Given the description of an element on the screen output the (x, y) to click on. 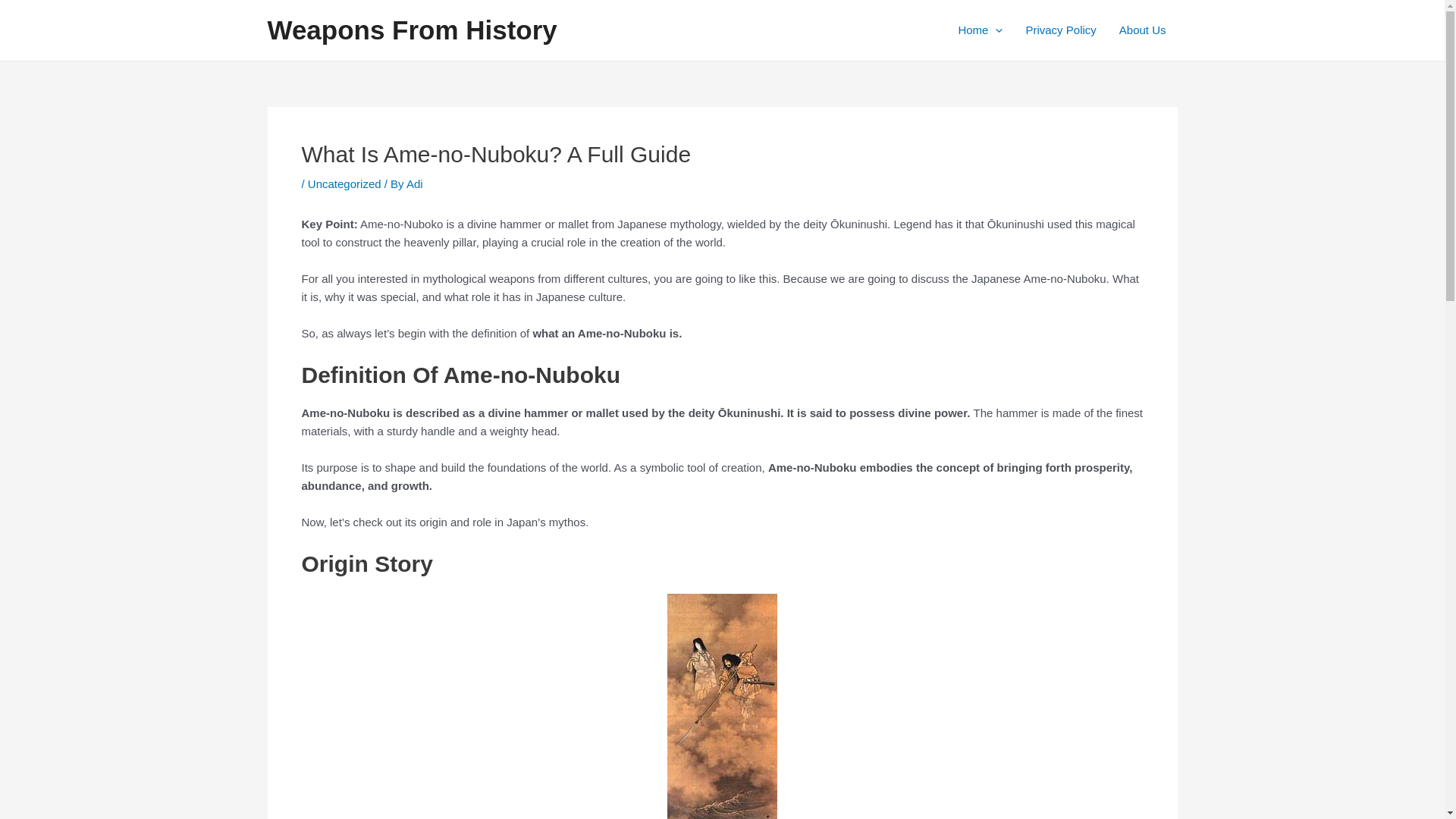
Home (979, 30)
Weapons From History (411, 30)
Adi (414, 183)
View all posts by Adi (414, 183)
About Us (1142, 30)
Uncategorized (344, 183)
Privacy Policy (1059, 30)
